Given the description of an element on the screen output the (x, y) to click on. 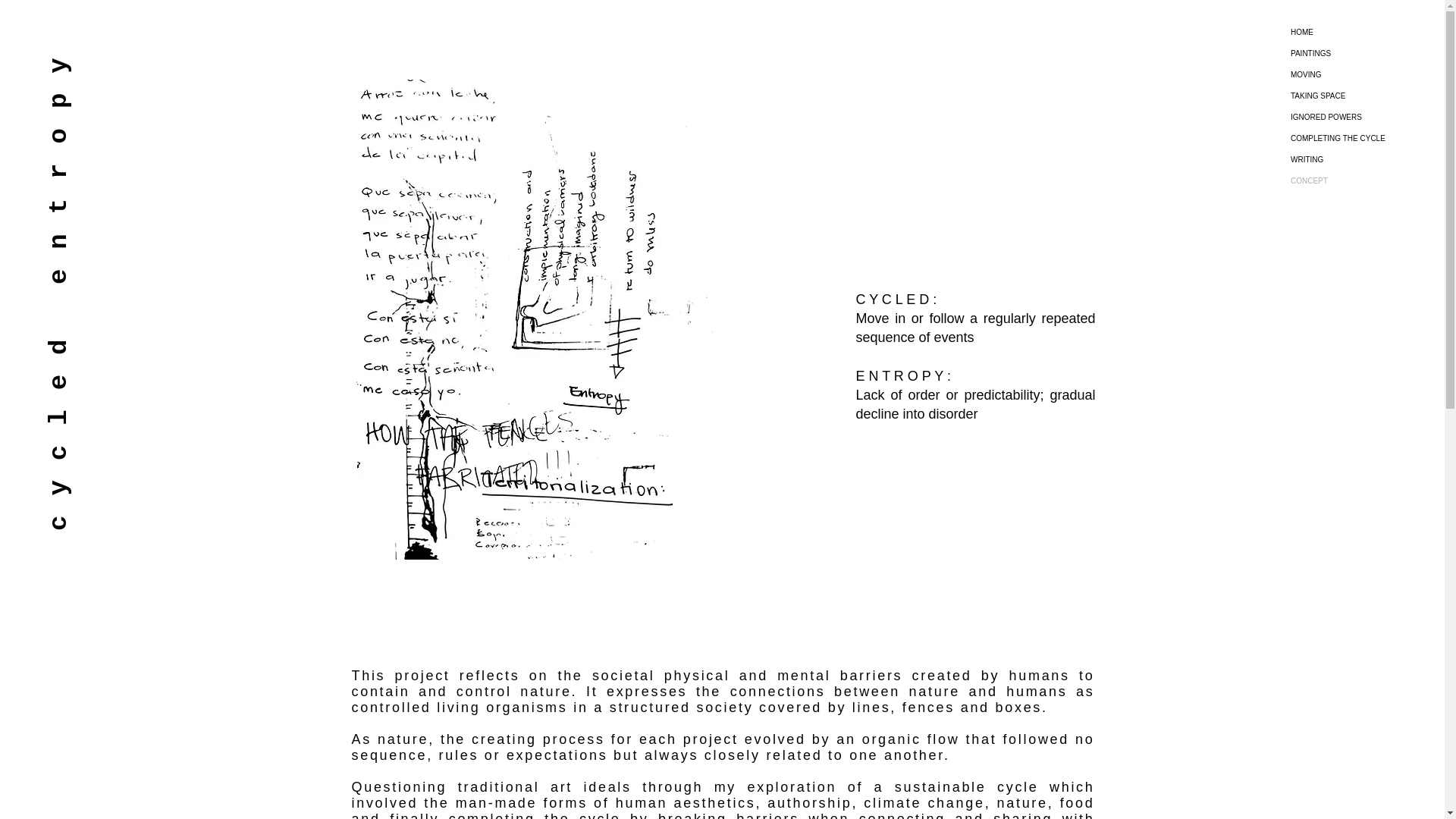
CONCEPT (1360, 180)
HOME (1360, 32)
COMPLETING THE CYCLE (1360, 138)
c y c l e d   e n t r o p y  (271, 65)
WRITING (1360, 159)
MOVING (1360, 74)
TAKING SPACE (1360, 96)
IGNORED POWERS (1360, 117)
PAINTINGS (1360, 53)
